Given the description of an element on the screen output the (x, y) to click on. 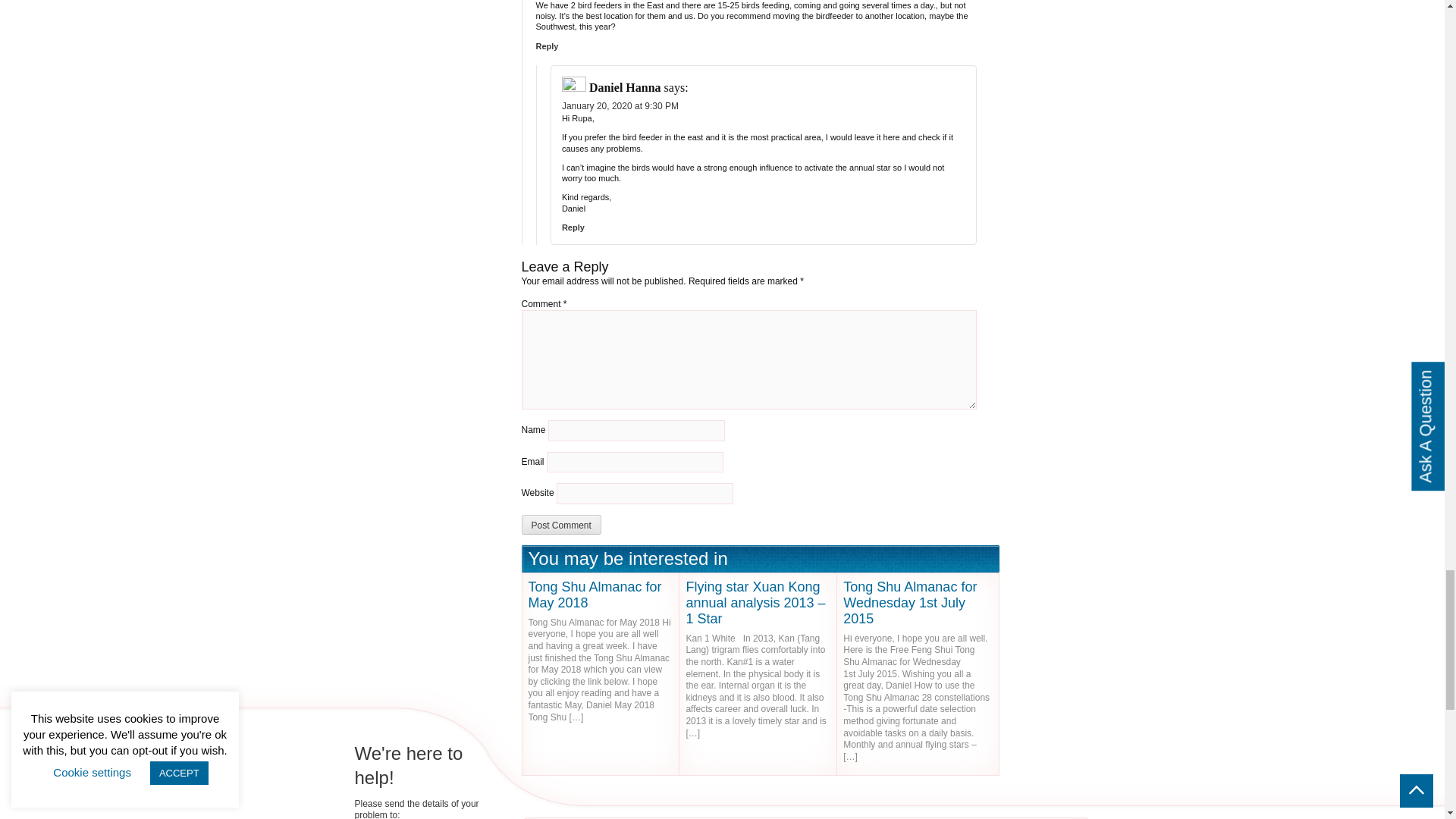
Post Comment (561, 524)
